Given the description of an element on the screen output the (x, y) to click on. 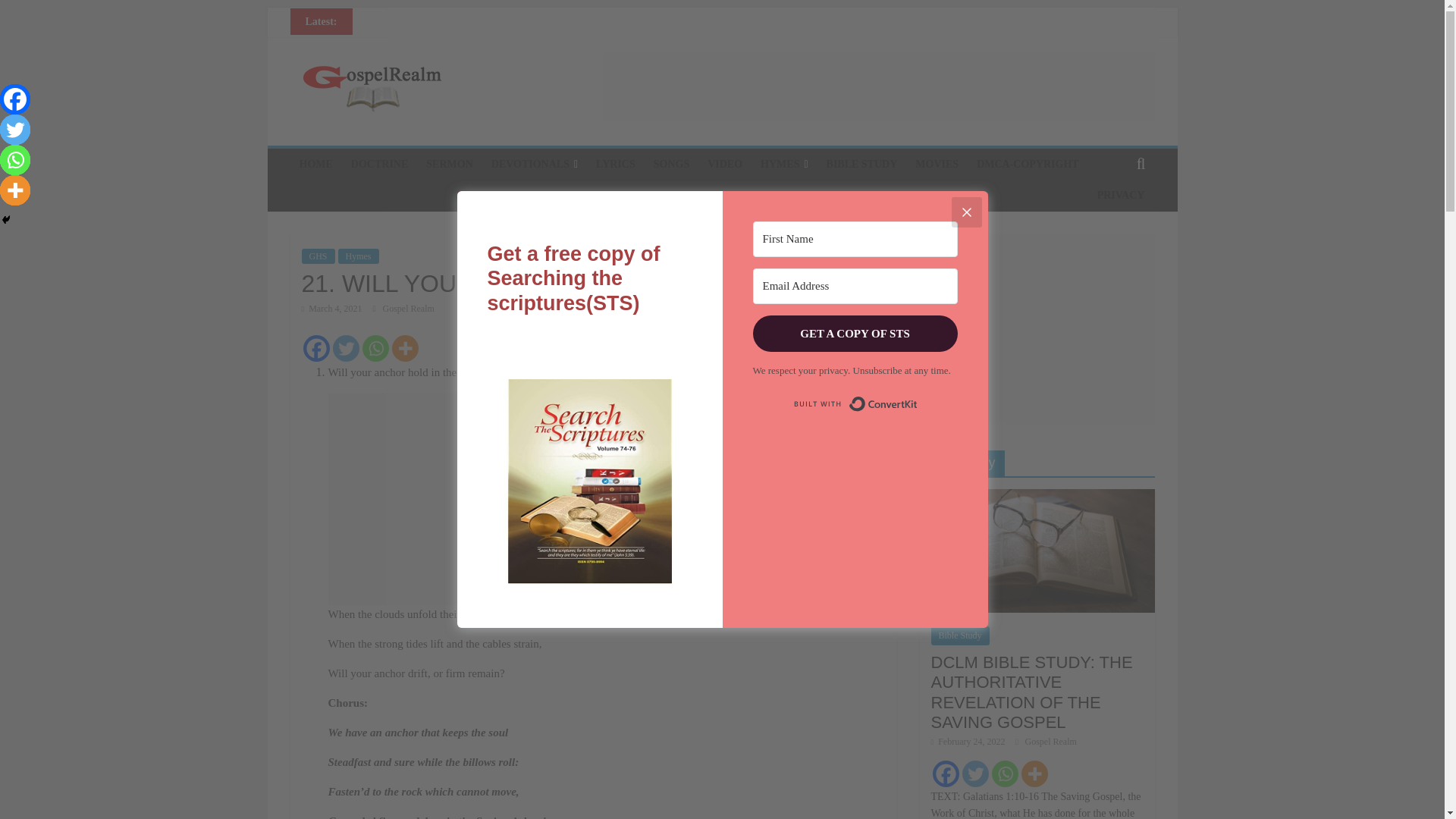
MOVIES (936, 164)
SERMON (448, 164)
HOME (314, 164)
PRIVACY (1120, 195)
March 4, 2021 (331, 308)
DOCTRINE (379, 164)
SONGS (671, 164)
Facebook (316, 347)
Hymes (357, 255)
More (404, 347)
DEVOTIONALS (533, 164)
HYMES (783, 164)
GHS (317, 255)
VIDEO (724, 164)
BIBLE STUDY (861, 164)
